Given the description of an element on the screen output the (x, y) to click on. 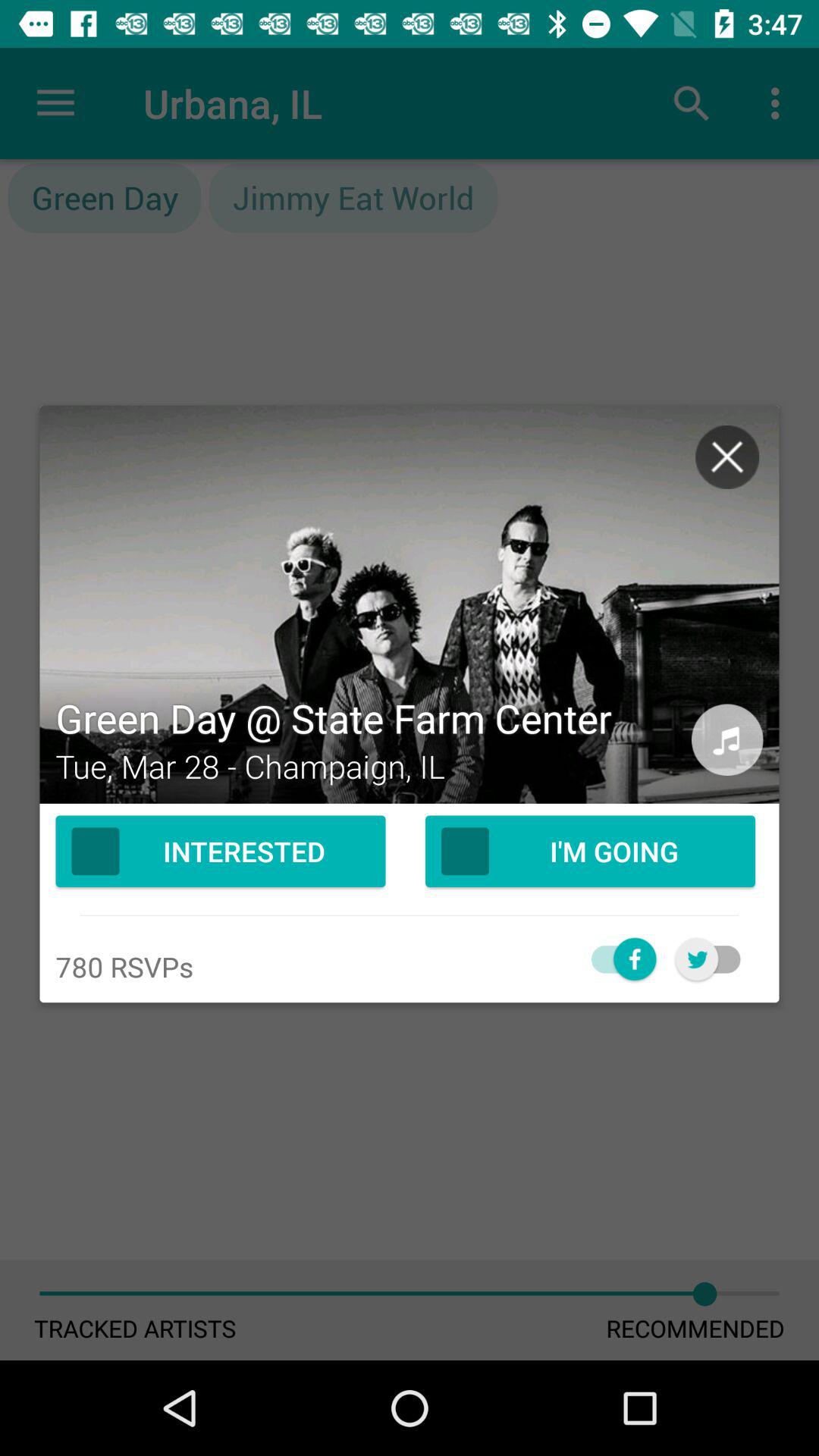
toggle autoplay option (615, 959)
